Given the description of an element on the screen output the (x, y) to click on. 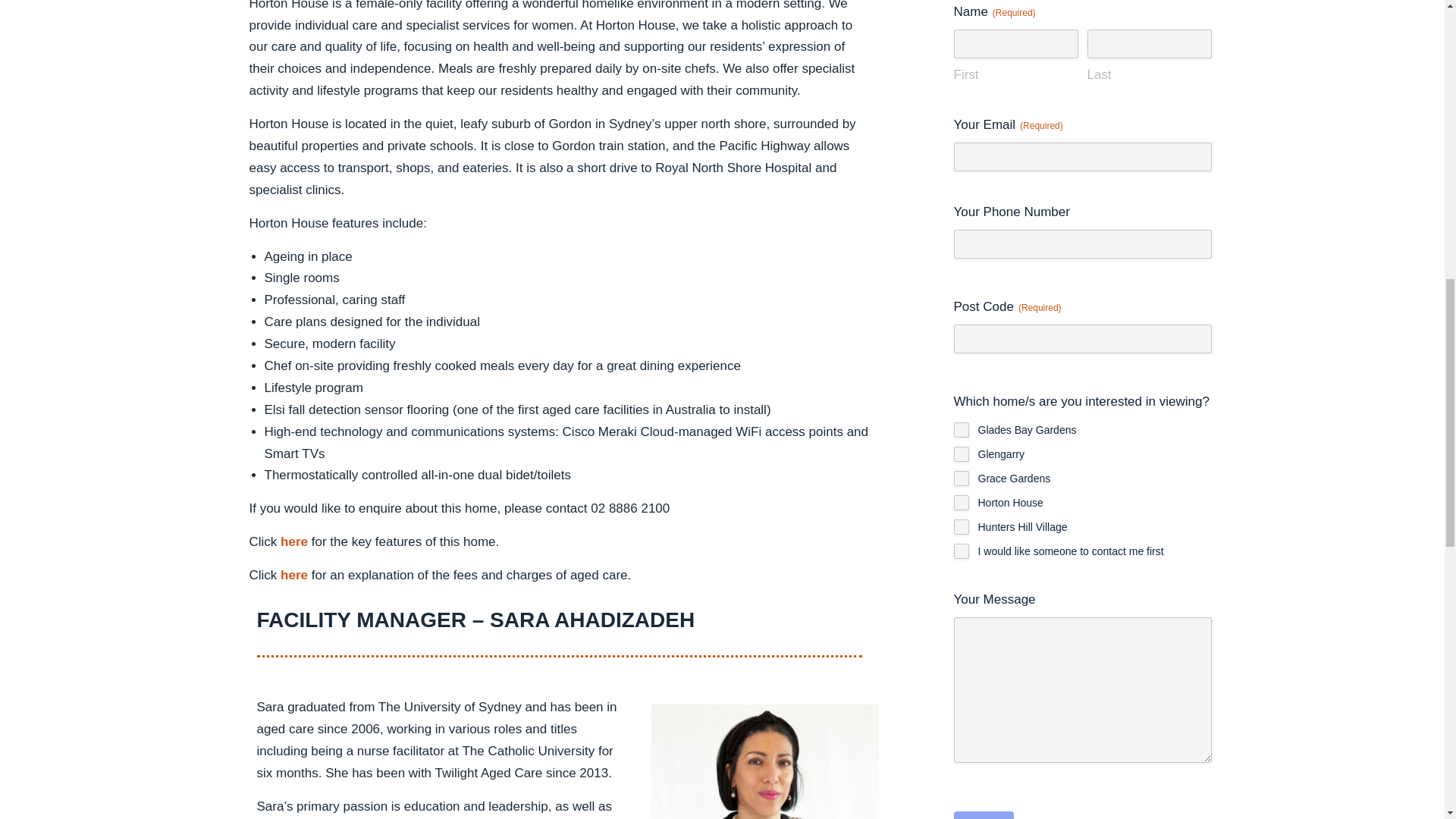
Glengarry (961, 453)
Horton House (961, 502)
Submit (983, 815)
Grace Gardens (961, 478)
I would like someone to contact me first (961, 550)
Glades Bay Gardens (961, 429)
Hunters Hill Village (961, 526)
